Given the description of an element on the screen output the (x, y) to click on. 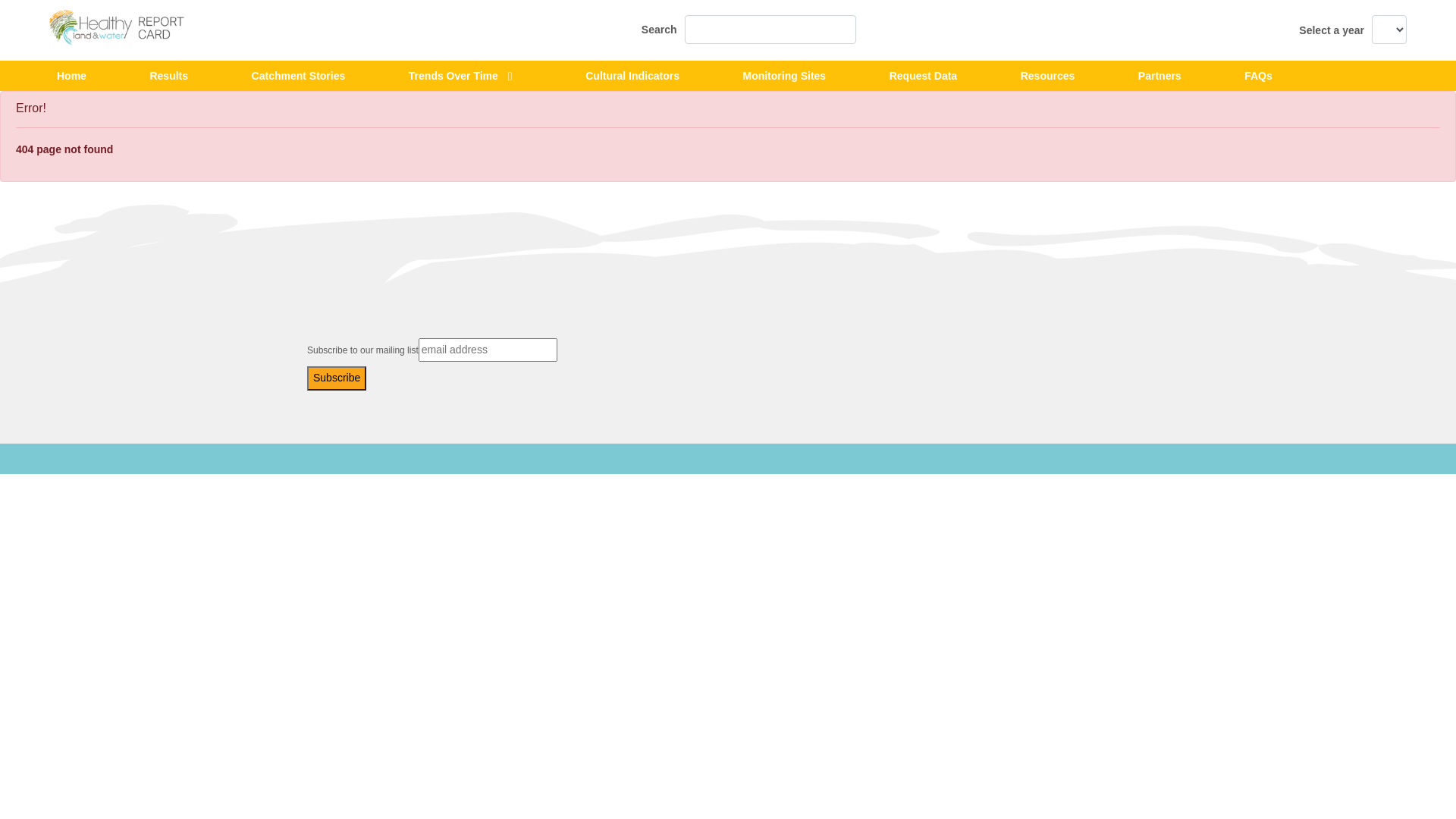
Request Data Element type: text (923, 76)
Monitoring Sites Element type: text (783, 76)
FAQs Element type: text (1258, 76)
Trends Over Time Element type: text (453, 76)
Partners Element type: text (1159, 76)
Catchment Stories Element type: text (298, 76)
Subscribe Element type: text (336, 378)
Results Element type: text (168, 76)
Cultural Indicators Element type: text (632, 76)
Search Element type: text (748, 29)
Home Element type: text (71, 76)
Resources Element type: text (1047, 76)
